Given the description of an element on the screen output the (x, y) to click on. 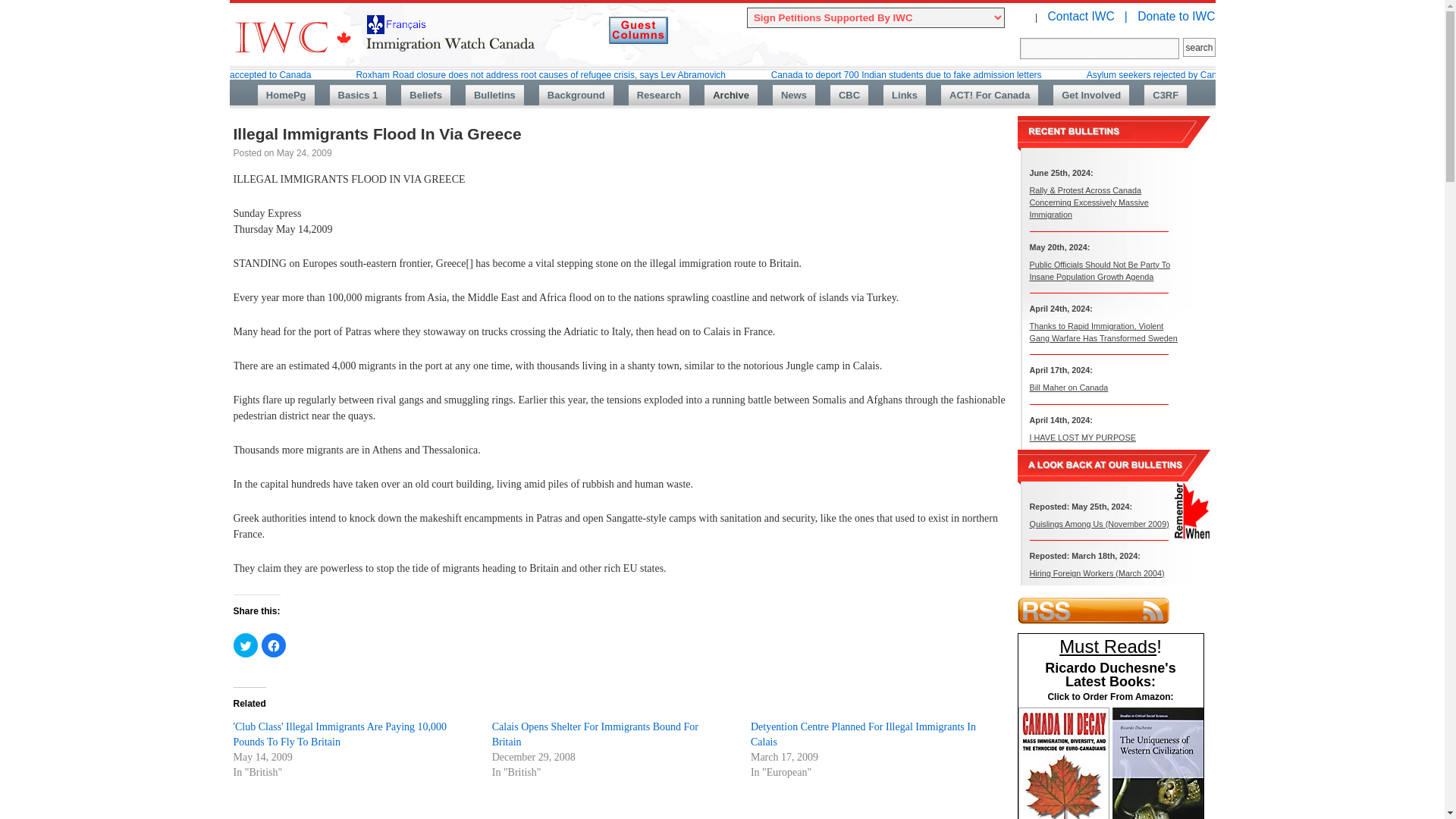
search (1198, 46)
Click to share on Facebook (272, 645)
Migrant struggling to be accepted to Canada (221, 74)
search (1198, 46)
Detyention Centre Planned For Illegal Immigrants In Calais (863, 734)
Canadians Citizens For Charter Rights and Freedoms (1165, 95)
Asylum seekers rejected by Canada end up stranded in U.S (1206, 74)
Permanent Link to Bill Maher on Canada (1068, 387)
Permanent Link to I HAVE LOST MY PURPOSE (1082, 436)
Calais Opens Shelter For Immigrants Bound For Britain (595, 734)
Donate to IWC (1175, 15)
